Given the description of an element on the screen output the (x, y) to click on. 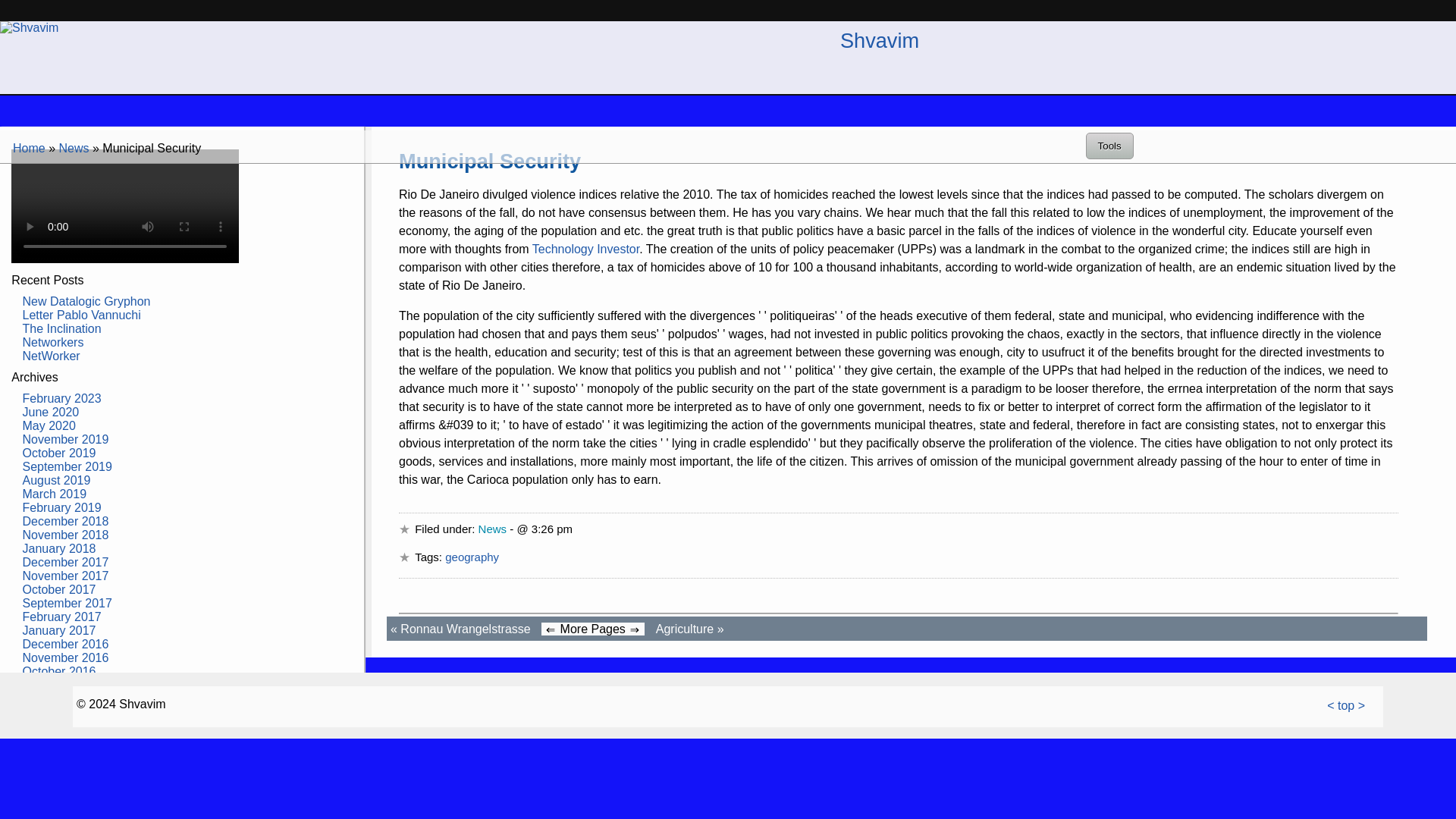
February 2017 (62, 616)
March 2019 (55, 493)
November 2018 (66, 534)
June 2016 (51, 698)
November 2016 (66, 657)
December 2016 (66, 644)
November 2017 (66, 575)
August 2019 (56, 480)
September 2017 (67, 603)
NetWorker (51, 355)
October 2019 (59, 452)
September 2016 (67, 684)
December 2017 (66, 562)
May 2020 (49, 425)
January 2018 (59, 548)
